Given the description of an element on the screen output the (x, y) to click on. 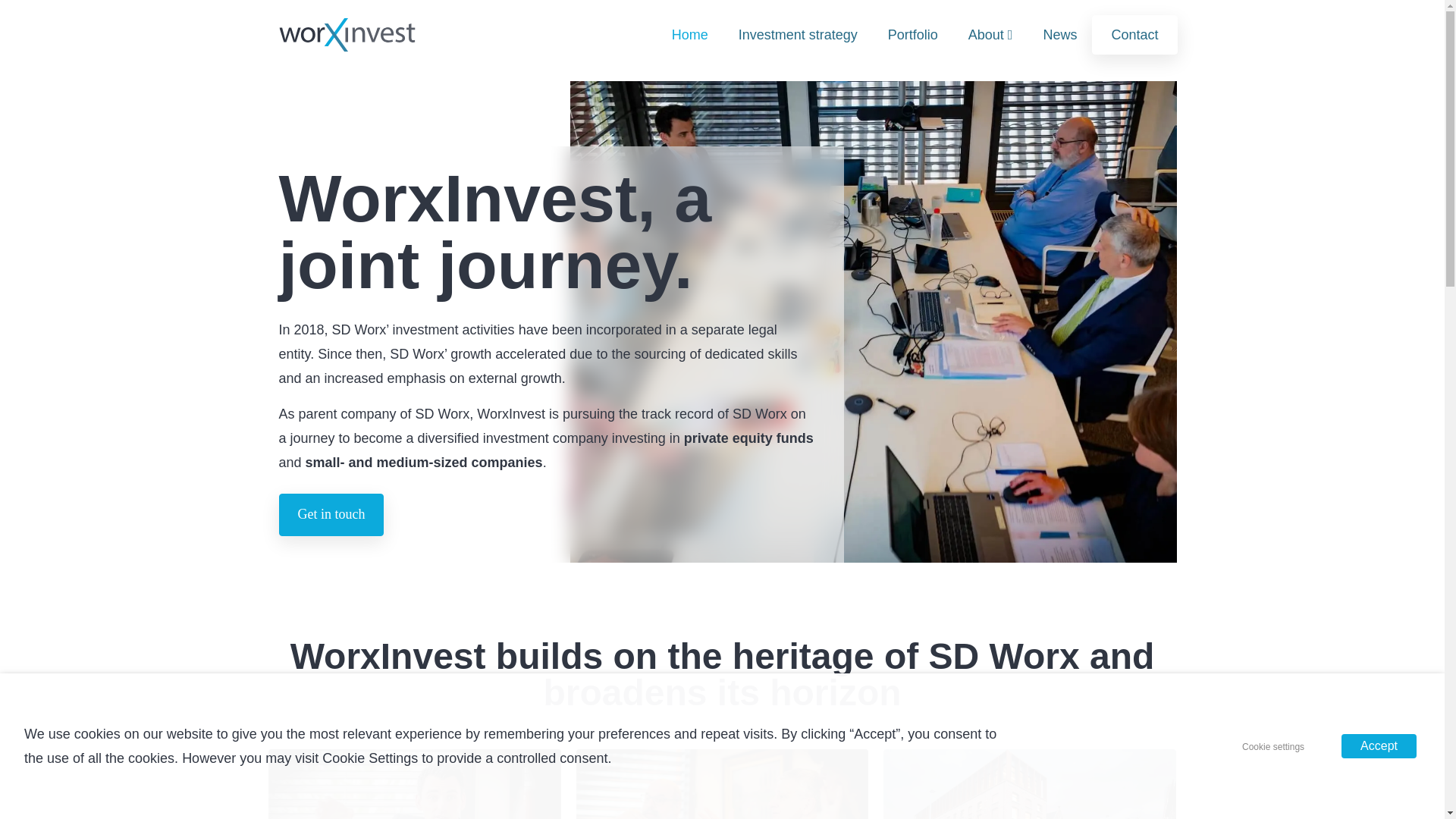
Portfolio (912, 34)
News (1059, 34)
Get in touch (331, 514)
WorxInvest (346, 35)
Home (689, 34)
Get in touch (331, 514)
About (990, 34)
Contact (1134, 34)
Investment strategy (797, 34)
